Given the description of an element on the screen output the (x, y) to click on. 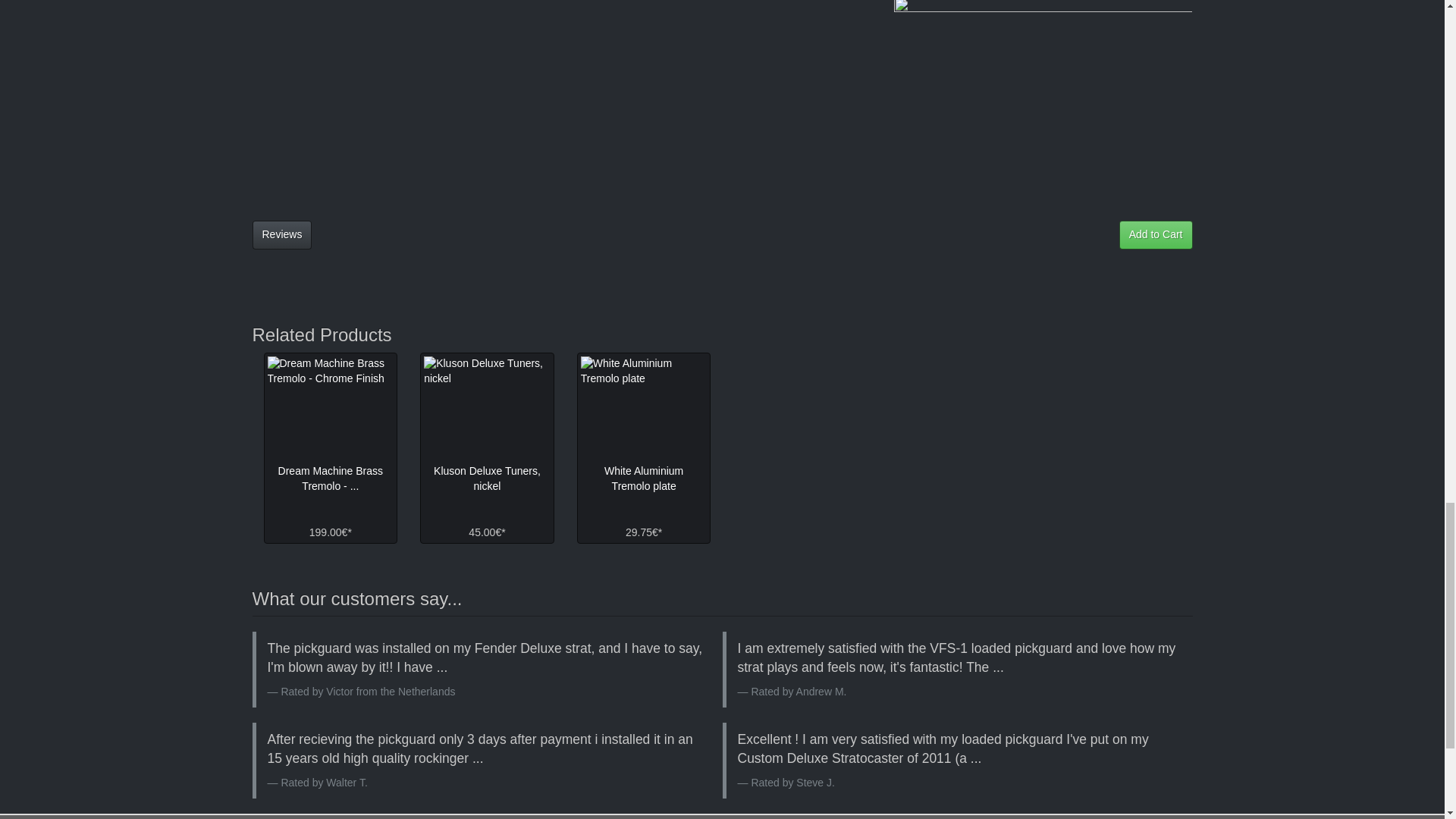
White Aluminium Tremolo plate (643, 406)
Kluson Deluxe Tuners, nickel (486, 406)
Victor from the Netherlands (390, 691)
Andrew M. (821, 691)
Kluson Deluxe Tuners, nickel (486, 478)
Add to Cart (1155, 234)
Steve J. (815, 782)
Walter T. (346, 782)
Dream Machine Brass Tremolo - Chrome Finish (329, 406)
Dream Machine Brass Tremolo - ... (331, 478)
Reviews (281, 234)
